Given the description of an element on the screen output the (x, y) to click on. 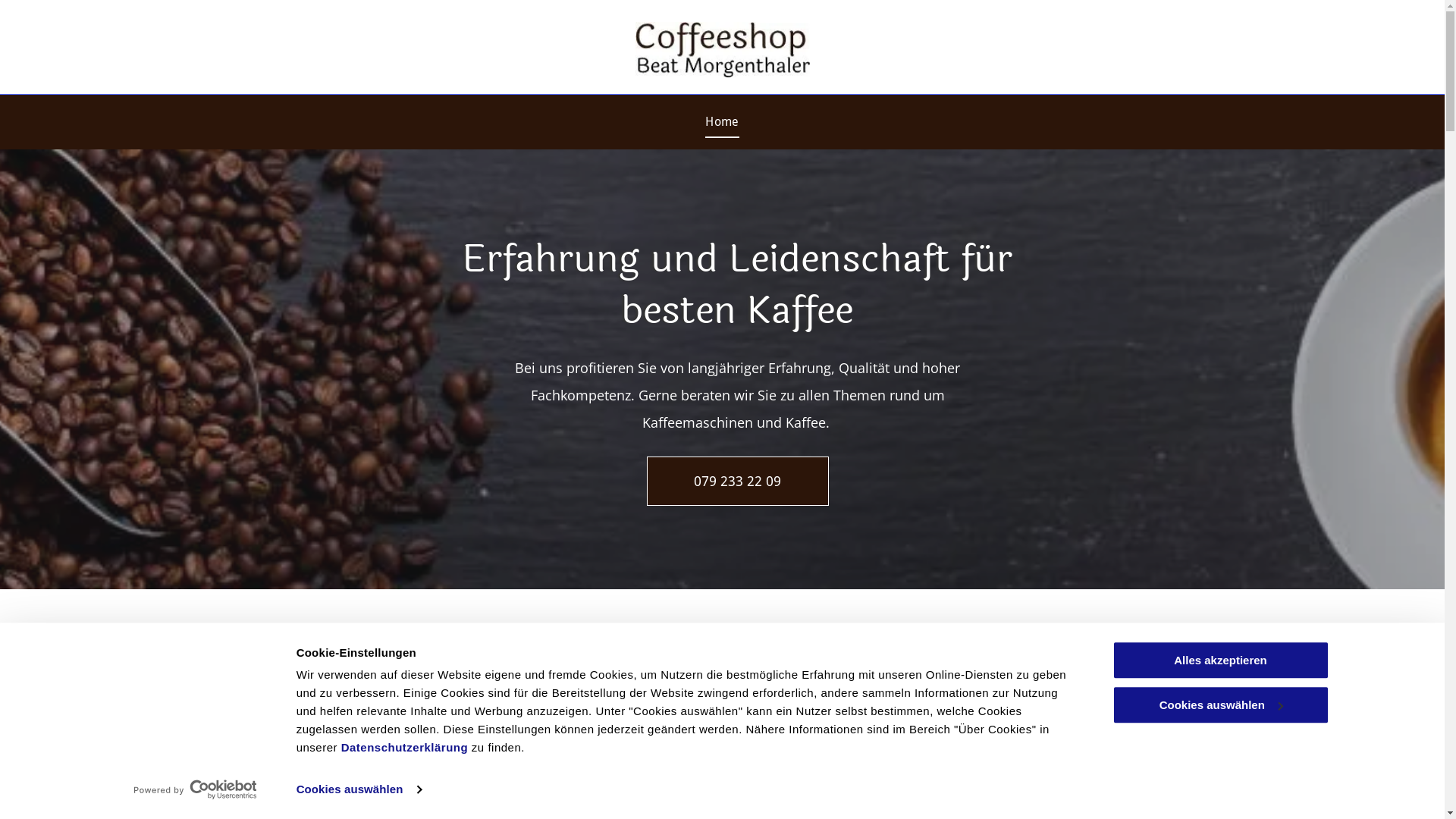
079 233 22 09 Element type: text (737, 480)
Alles akzeptieren Element type: text (1219, 659)
Home Element type: text (721, 122)
